Given the description of an element on the screen output the (x, y) to click on. 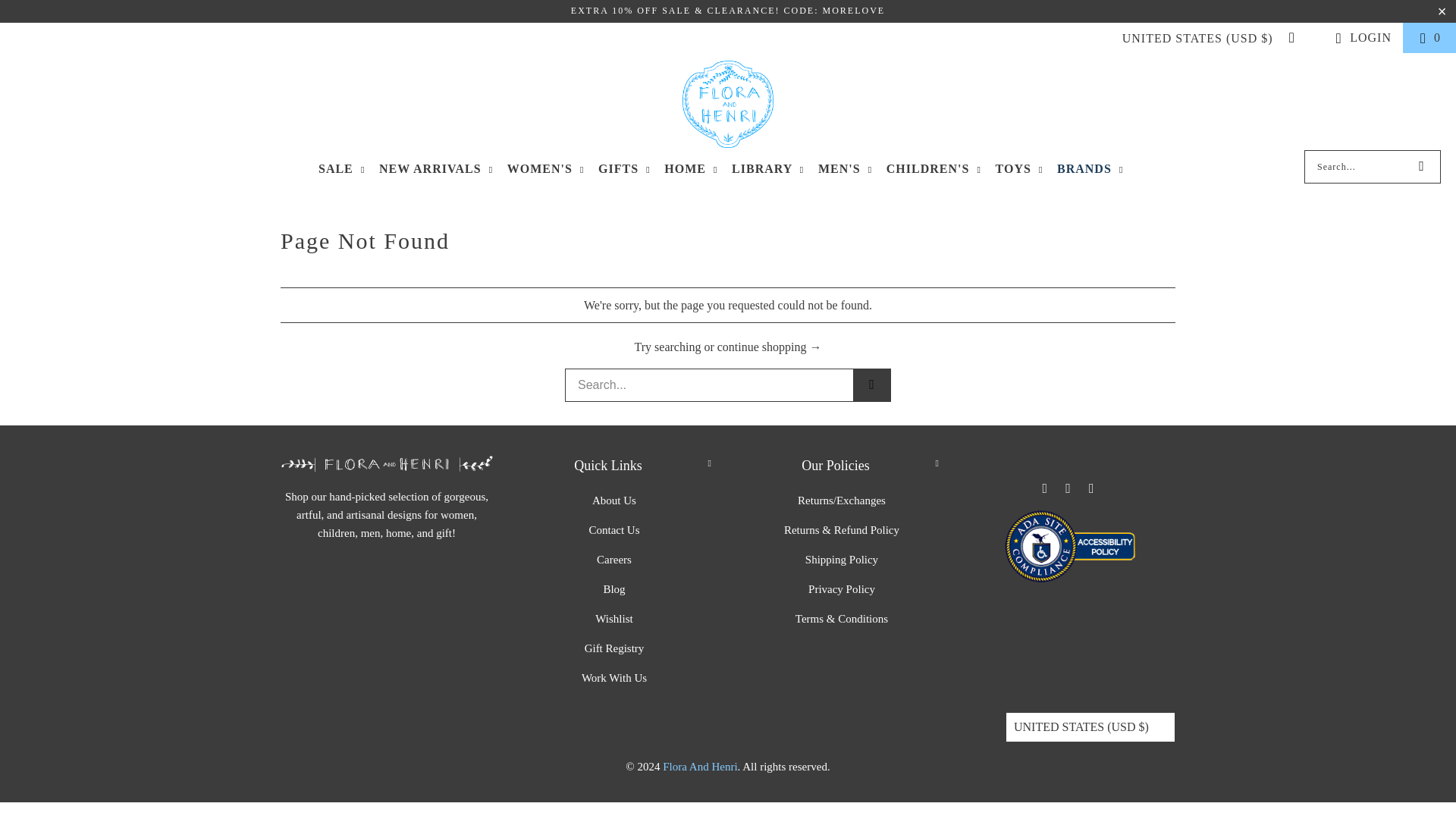
flora and henri (699, 766)
My Account  (1360, 37)
flora and henri (727, 104)
